Given the description of an element on the screen output the (x, y) to click on. 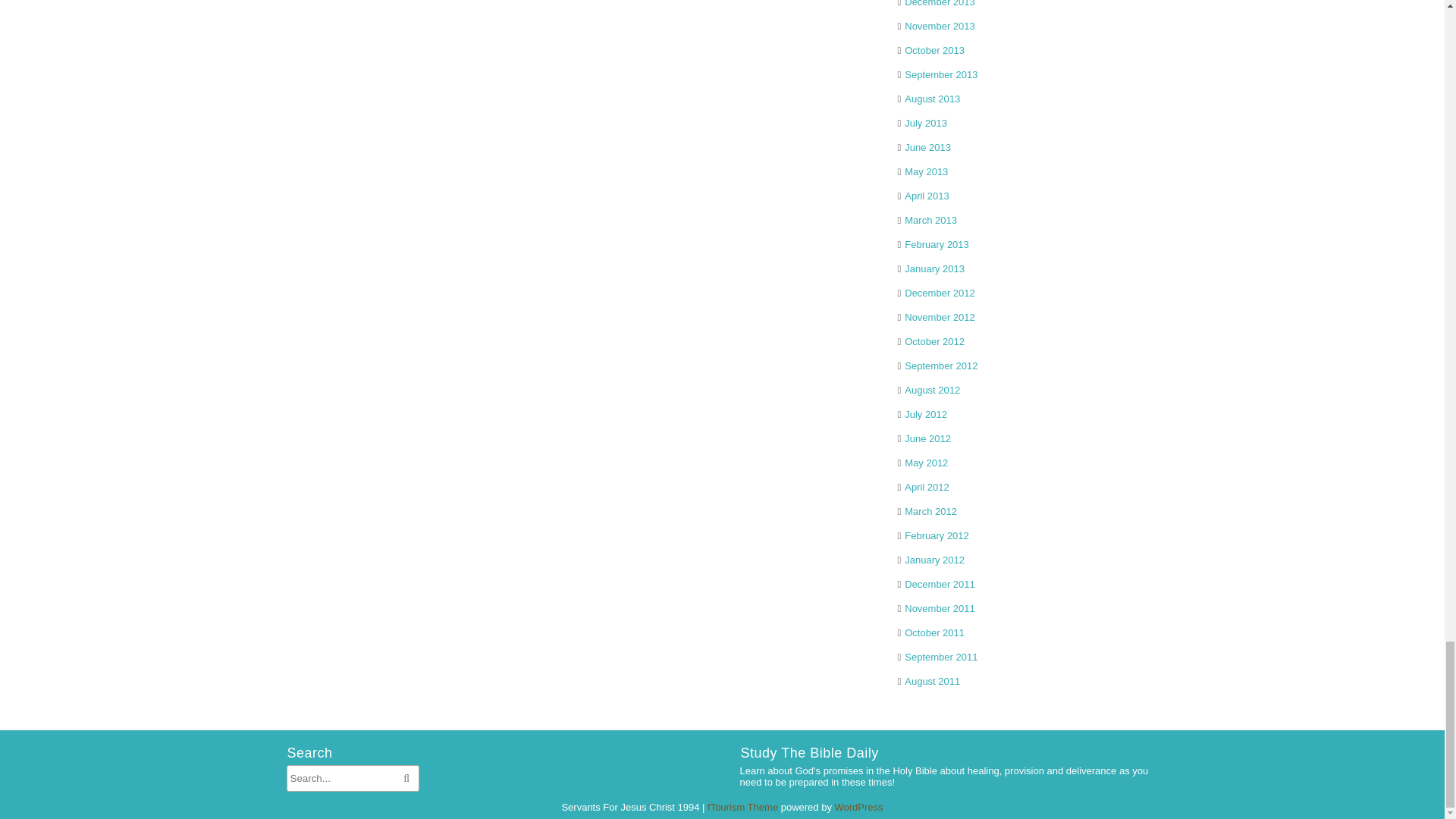
ftourism Theme (742, 807)
WordPress (858, 807)
